Given the description of an element on the screen output the (x, y) to click on. 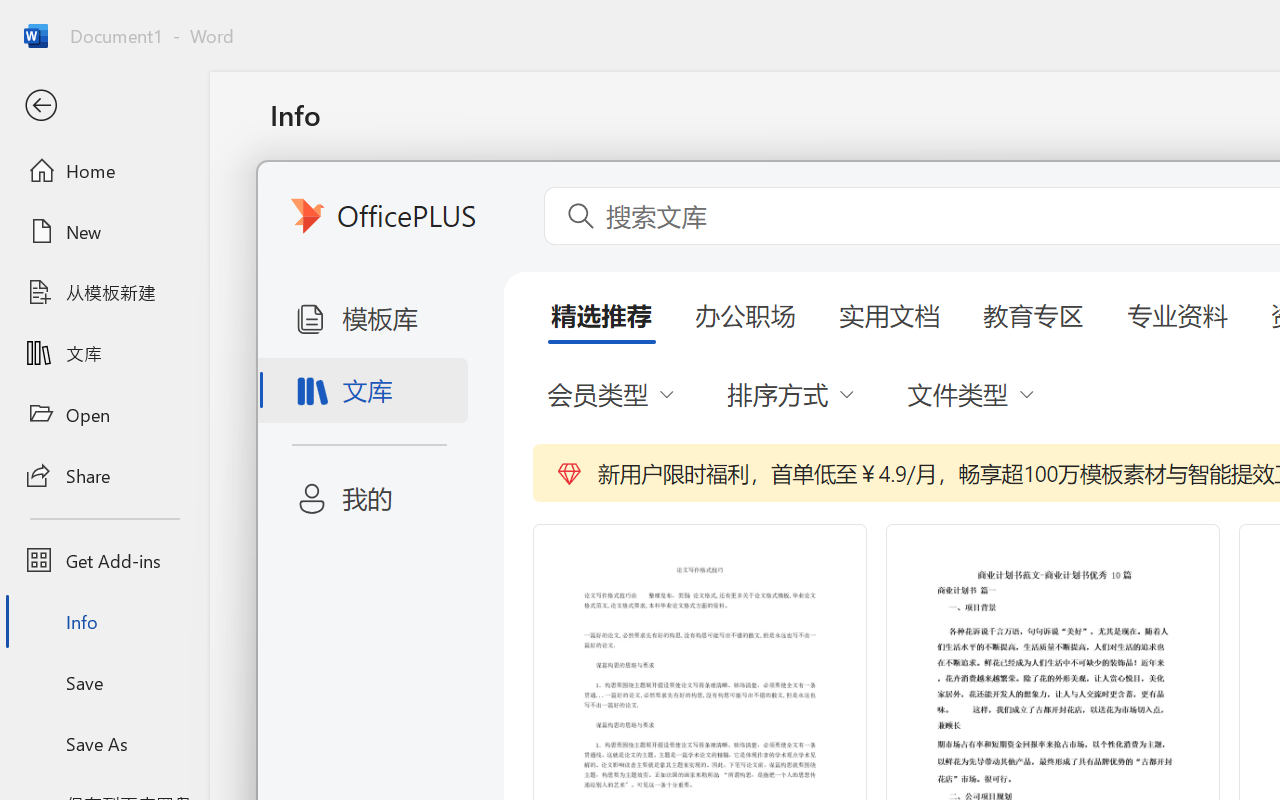
Info (104, 621)
Get Add-ins (104, 560)
New (104, 231)
Save As (104, 743)
